Given the description of an element on the screen output the (x, y) to click on. 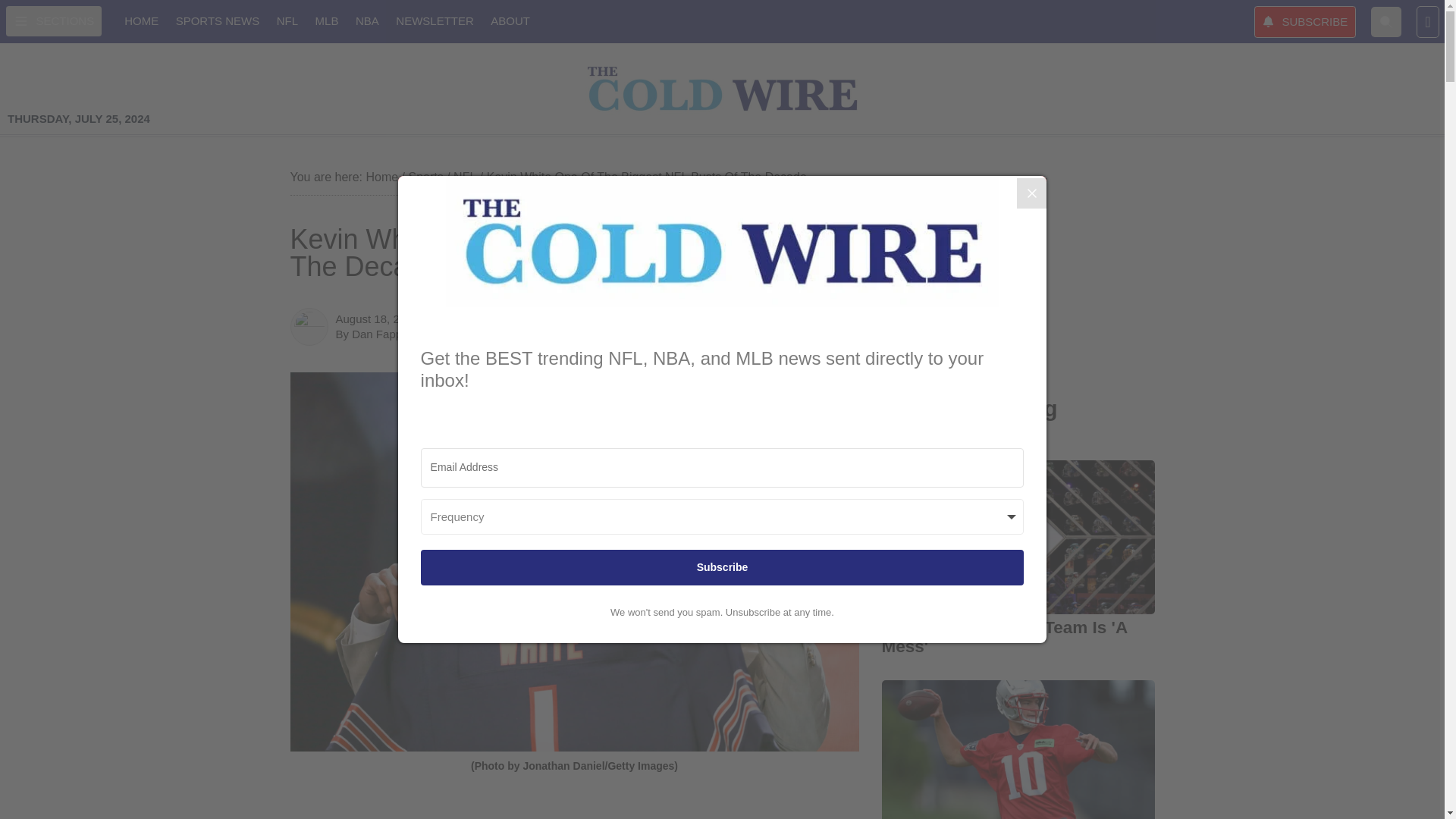
Open Menu (53, 20)
Search (1385, 20)
